Given the description of an element on the screen output the (x, y) to click on. 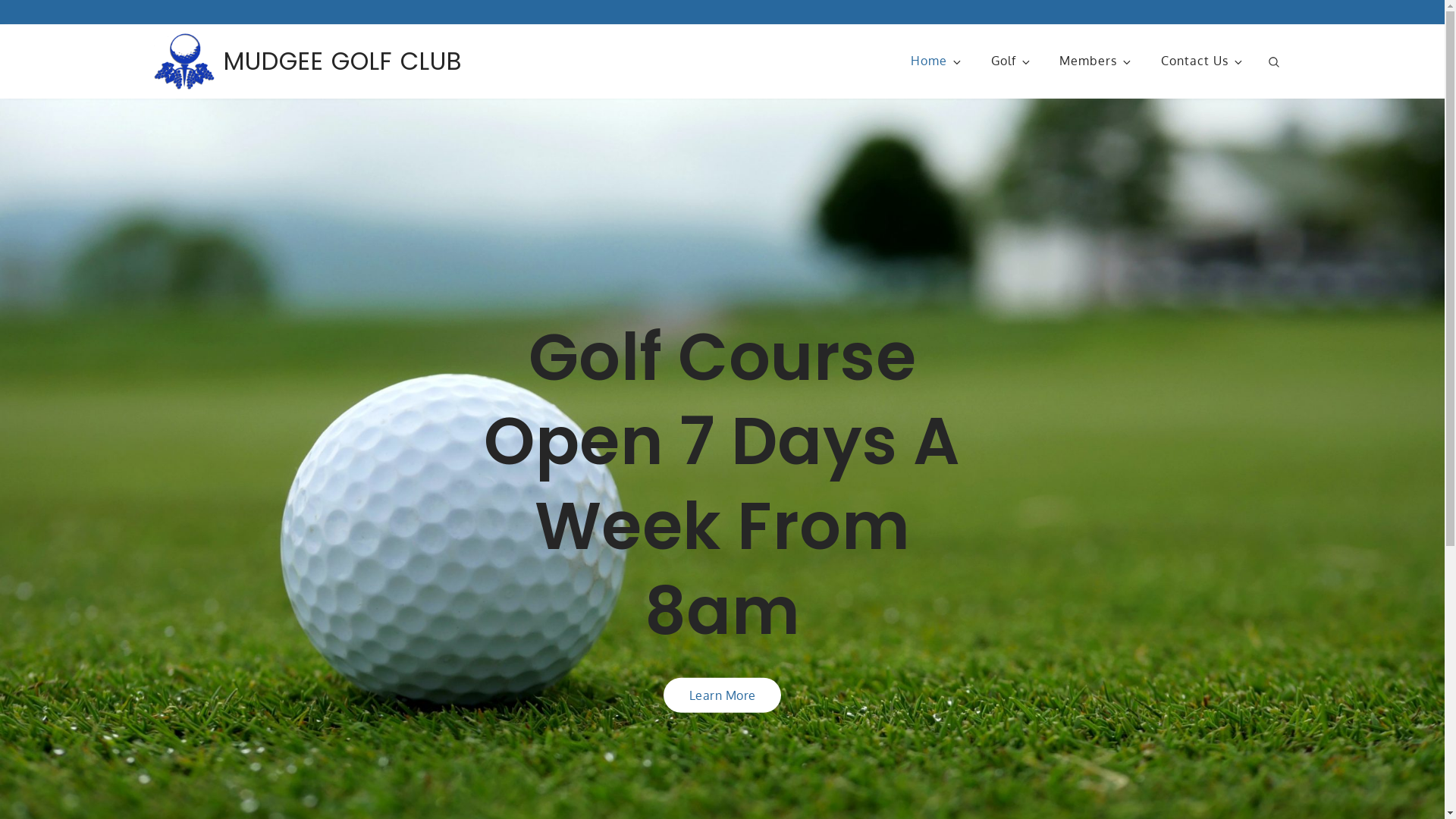
Home Element type: text (936, 60)
Contact Us Element type: text (1201, 60)
Golf Element type: text (1010, 60)
Members Element type: text (1095, 60)
MUDGEE GOLF CLUB Element type: text (342, 60)
Learn More Element type: text (722, 694)
Golf Course Open 7 Days A Week From 8am Element type: text (721, 482)
